Given the description of an element on the screen output the (x, y) to click on. 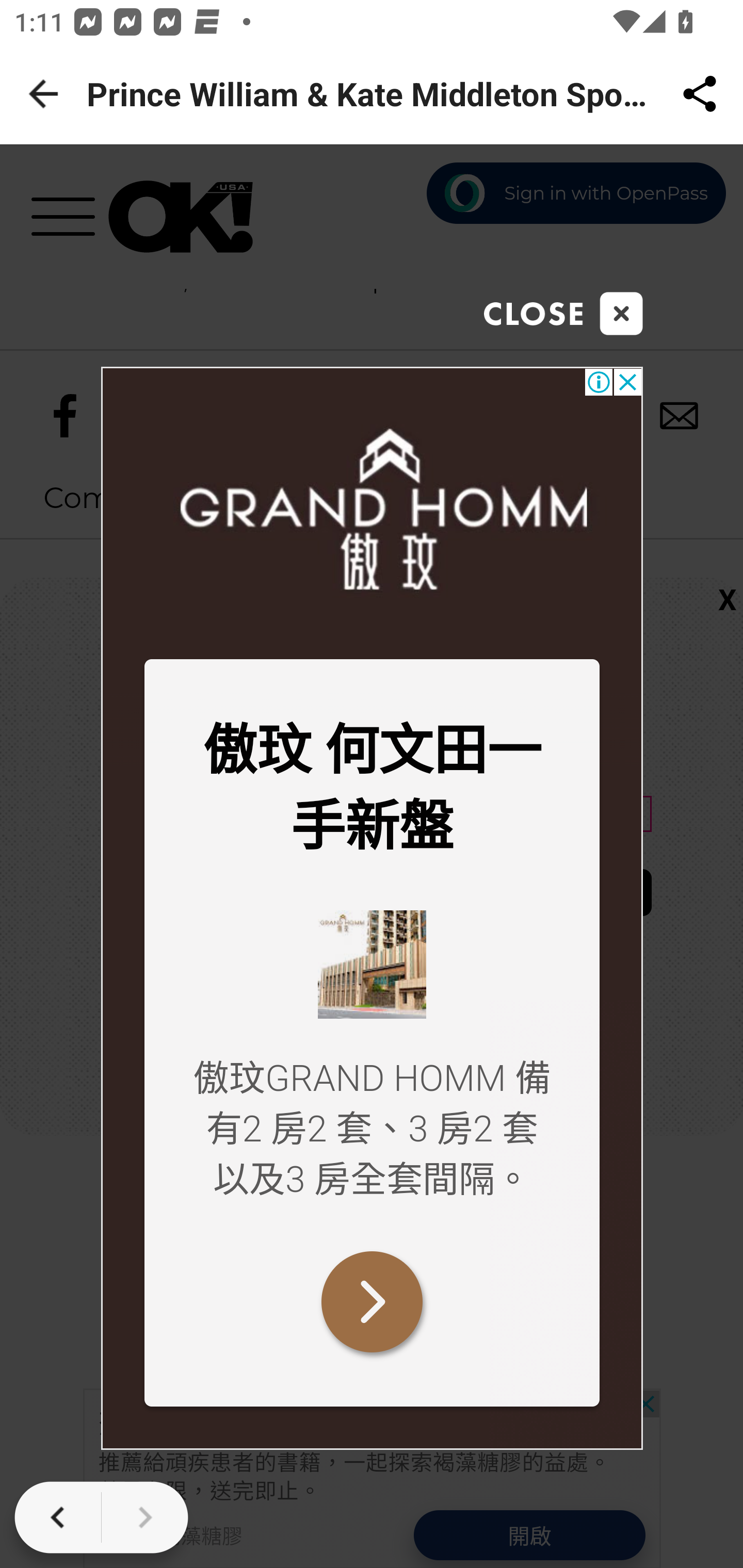
close dialog (563, 314)
傲玟 何文田一 手新盤 傲玟 何文田一 手新盤 (371, 789)
